Given the description of an element on the screen output the (x, y) to click on. 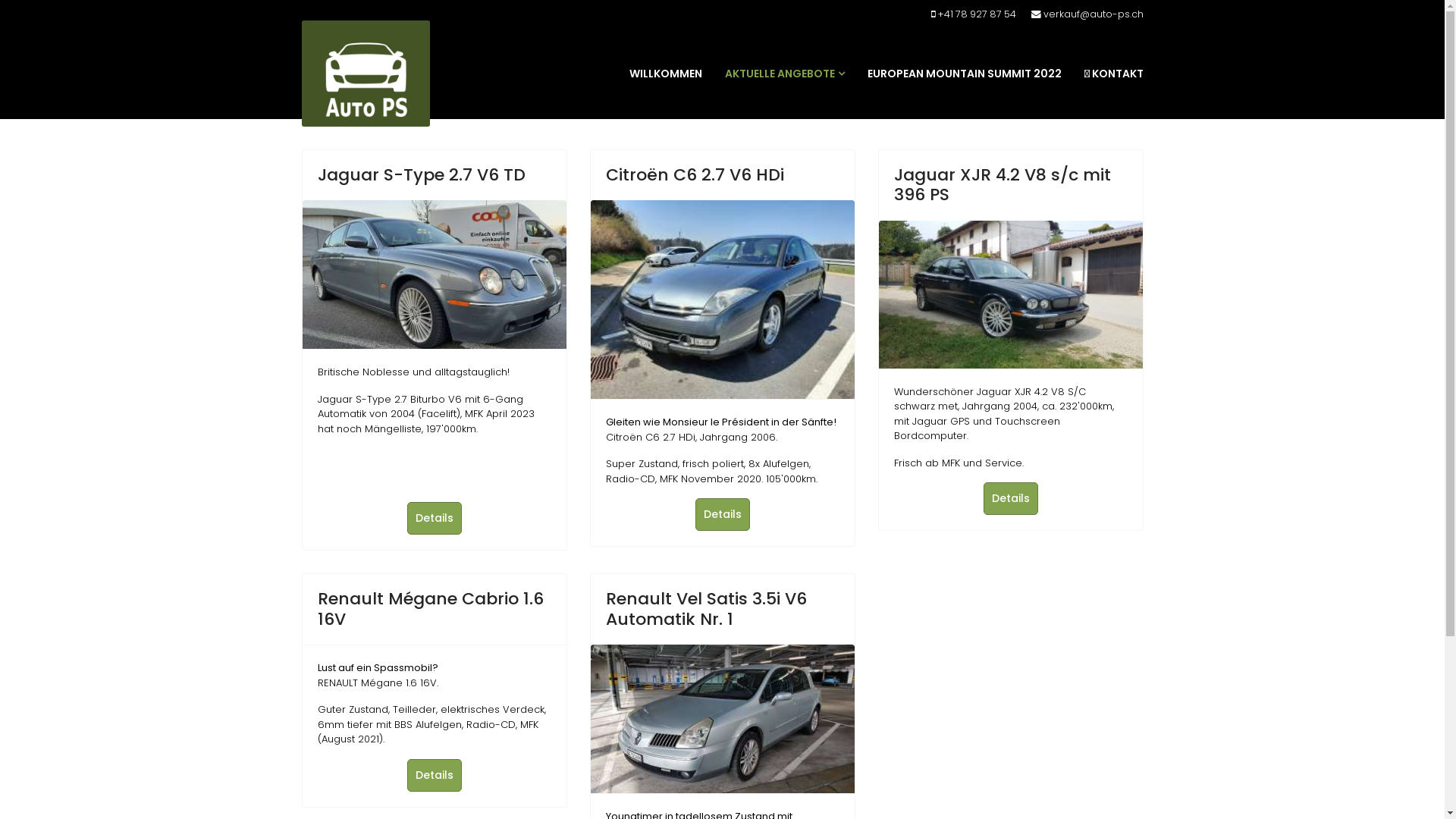
KONTAKT Element type: text (1113, 73)
Renault Vel Satis 3.5i V6 Automatik Nr. 1 Element type: text (705, 608)
WILLKOMMEN Element type: text (664, 73)
Details Element type: text (721, 514)
Jaguar XJR 4.2 V8 s/c mit 396 PS Element type: text (1001, 184)
verkauf@auto-ps.ch Element type: text (1093, 13)
Details Element type: text (1009, 498)
Jaguar S-Type 2.7 V6 TD Element type: text (420, 174)
Details Element type: text (433, 518)
Details Element type: text (433, 775)
+41 78 927 87 54 Element type: text (976, 13)
EUROPEAN MOUNTAIN SUMMIT 2022 Element type: text (963, 73)
AKTUELLE ANGEBOTE Element type: text (783, 73)
